Given the description of an element on the screen output the (x, y) to click on. 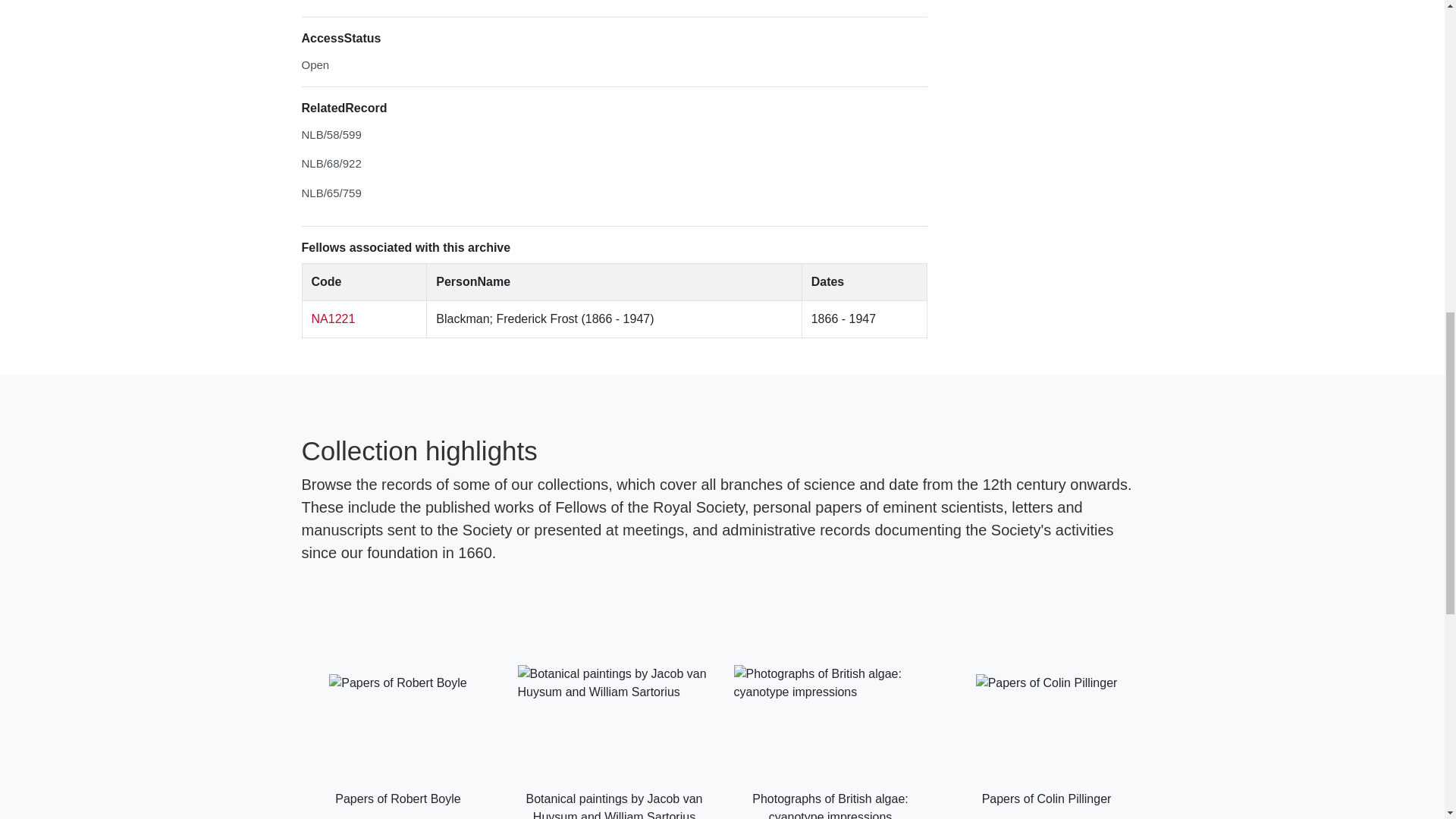
NA1221 (333, 318)
Show related Persons records. (333, 318)
